Given the description of an element on the screen output the (x, y) to click on. 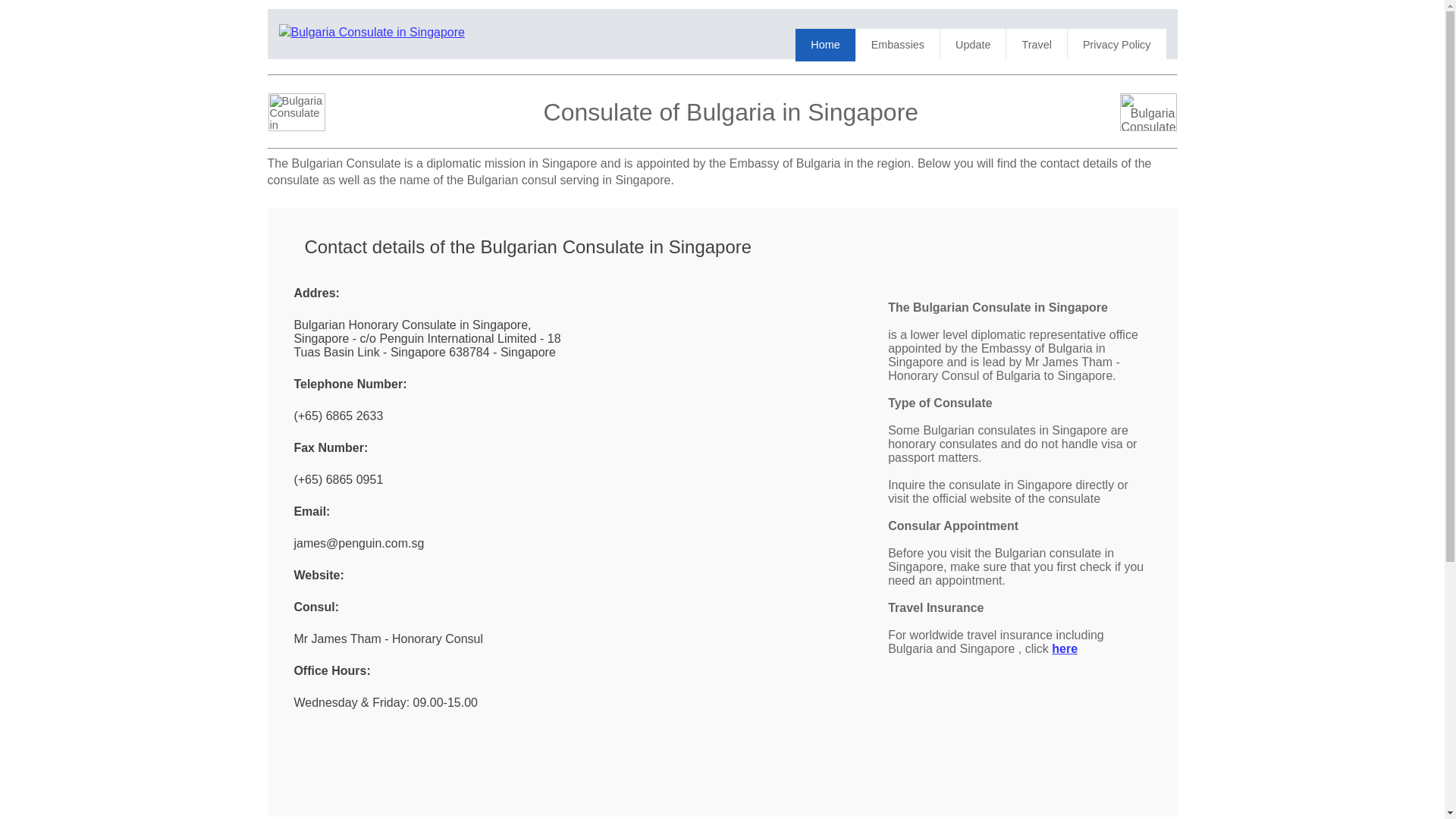
Update (973, 44)
Travel (1035, 44)
Privacy Policy (1116, 44)
here (1064, 648)
Home (824, 44)
Embassies (897, 44)
